Given the description of an element on the screen output the (x, y) to click on. 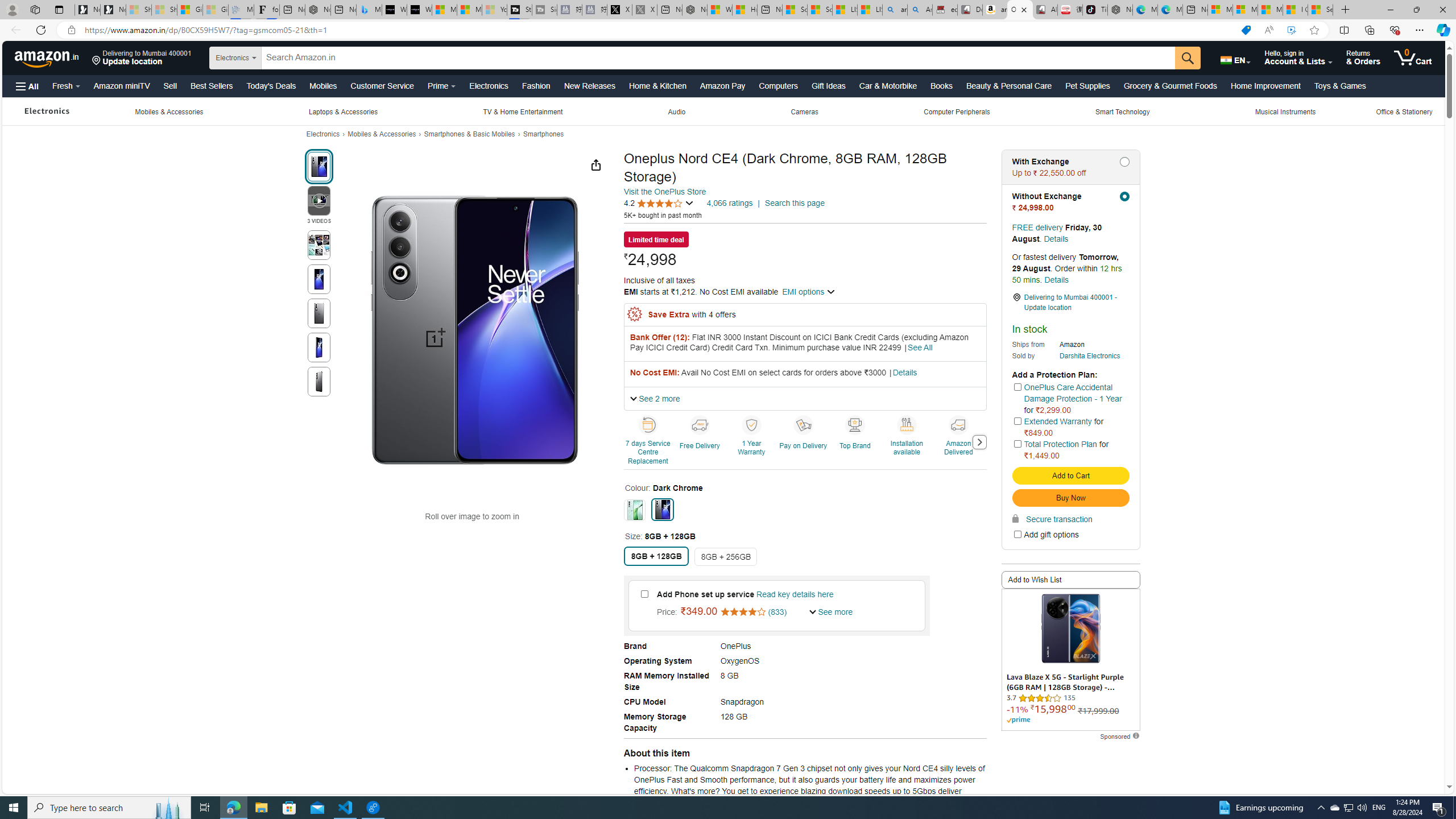
Prime (1018, 719)
Add to Wish List (1070, 579)
Fresh (66, 85)
Sell (169, 85)
Delivering to Mumbai 400001 Update location (141, 57)
Amazon miniTV (121, 85)
Microsoft Start (1270, 9)
Returns & Orders (1363, 57)
Open Menu (26, 86)
Today's Deals (270, 85)
